Given the description of an element on the screen output the (x, y) to click on. 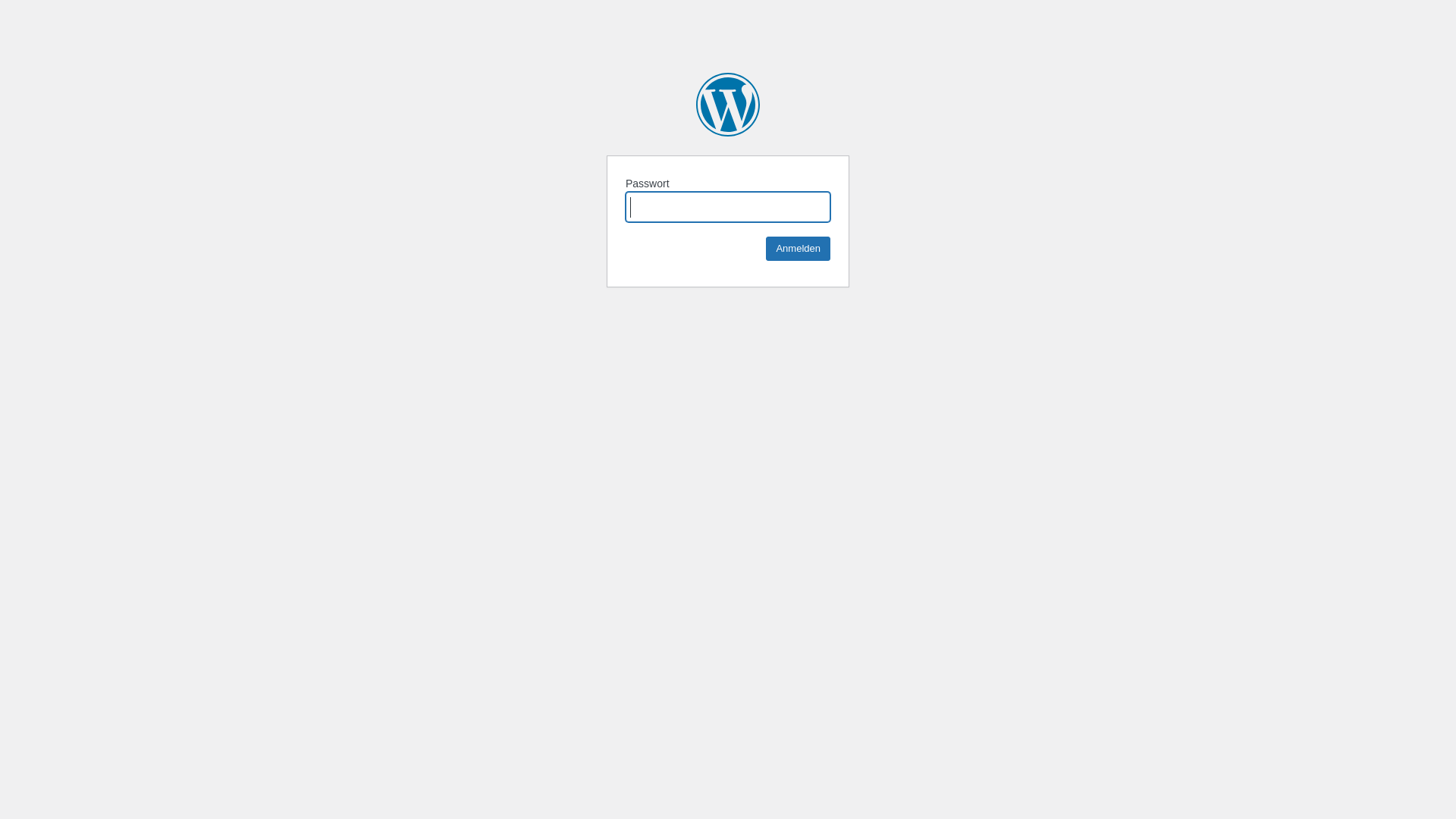
Anmelden Element type: text (797, 248)
Infopool Element type: text (727, 104)
